Given the description of an element on the screen output the (x, y) to click on. 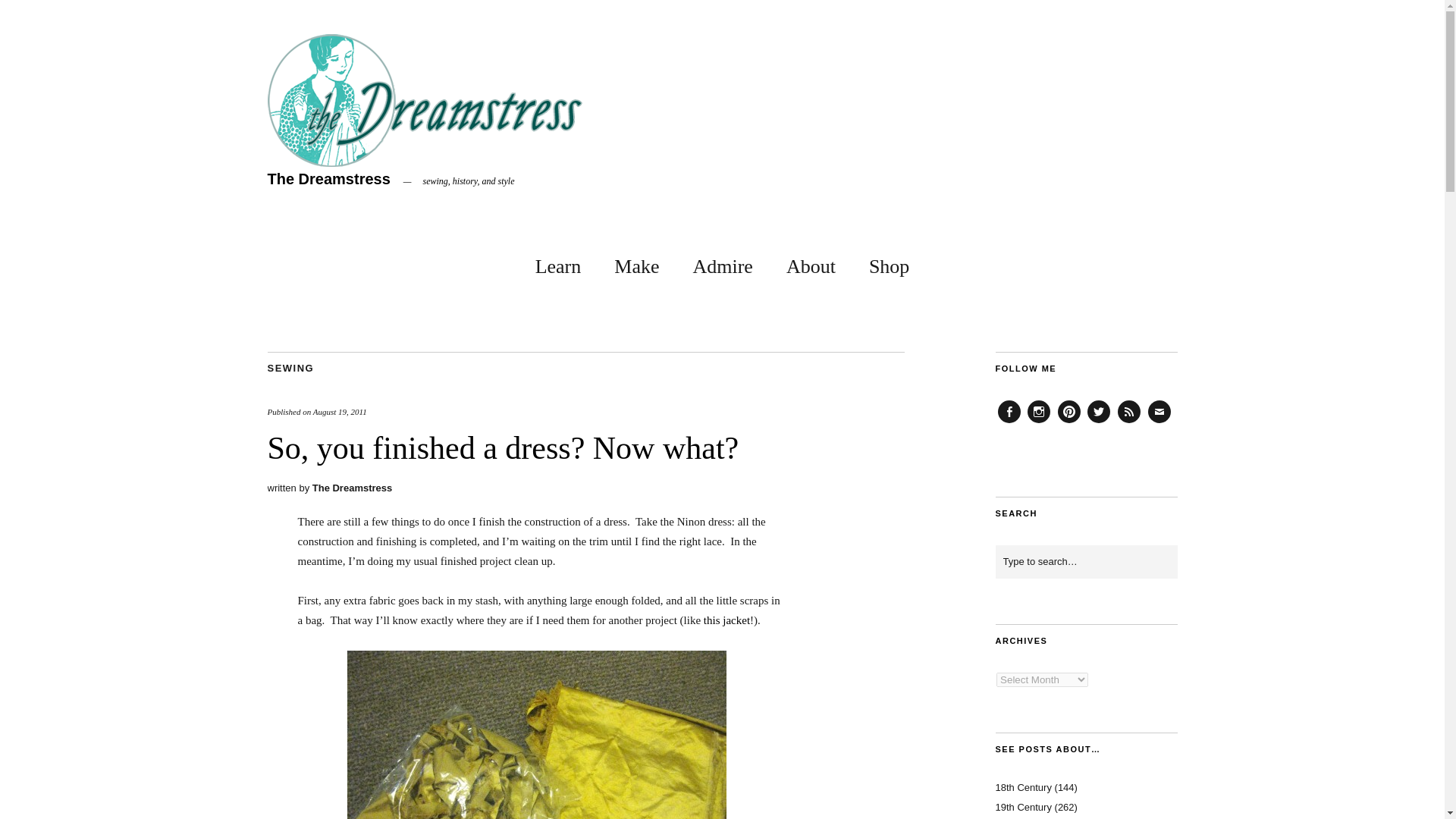
August 19, 2011 (339, 411)
Admire (722, 263)
Shop (888, 263)
this jacket (726, 620)
The Dreamstress (353, 487)
The Dreamstress (328, 178)
All posts by The Dreamstress (353, 487)
Make (636, 263)
SEWING (290, 367)
About (810, 263)
